Given the description of an element on the screen output the (x, y) to click on. 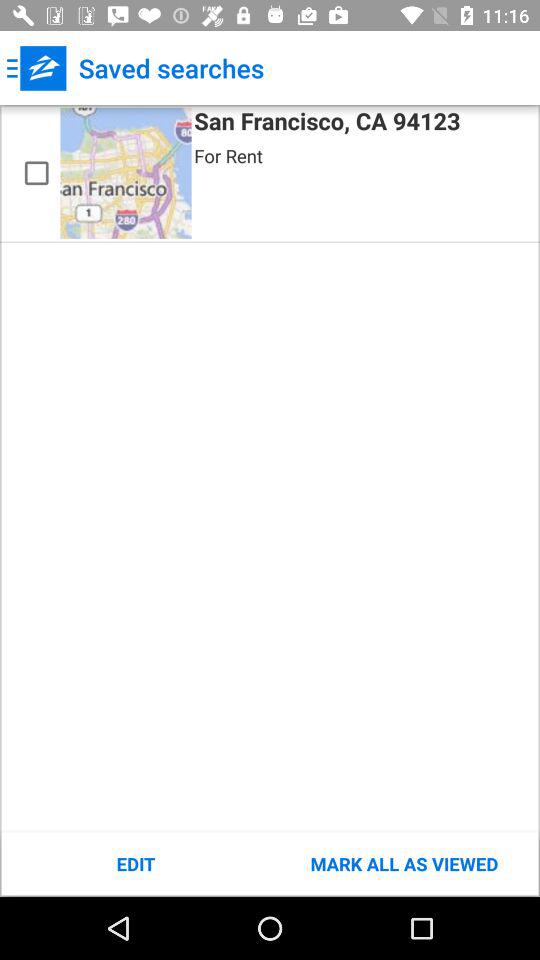
click the icon to the left of san francisco ca icon (125, 172)
